Given the description of an element on the screen output the (x, y) to click on. 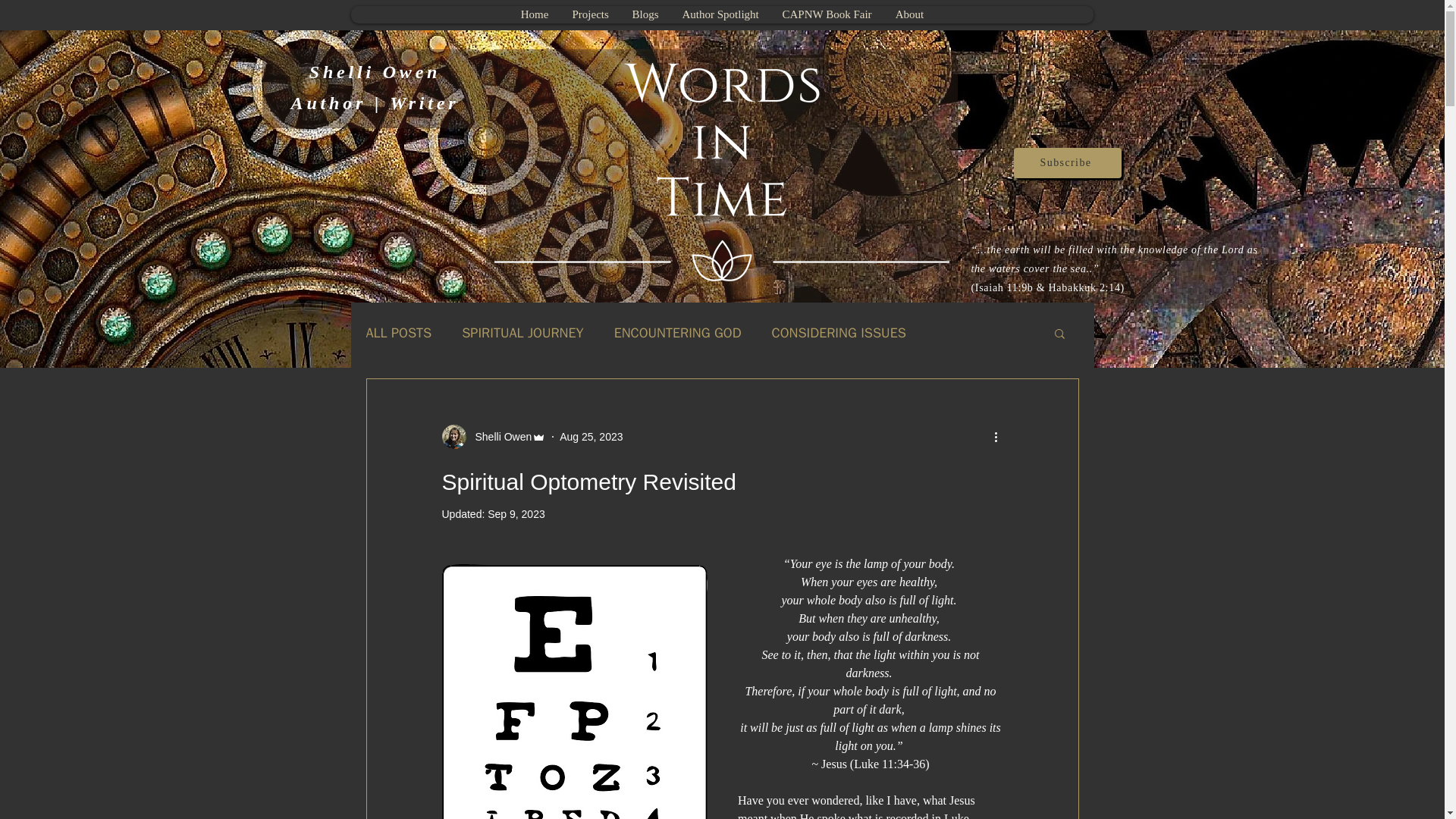
Author Spotlight (719, 14)
Blogs (644, 14)
Aug 25, 2023 (591, 436)
Pin to Pinterest (1067, 12)
CONSIDERING ISSUES (838, 332)
SPIRITUAL JOURNEY (522, 332)
Subscribe (1067, 163)
Projects (589, 14)
CAPNW Book Fair (826, 14)
Shelli Owen (498, 437)
Sep 9, 2023 (515, 513)
About (908, 14)
ENCOUNTERING GOD (677, 332)
ALL POSTS (397, 332)
Home (533, 14)
